Given the description of an element on the screen output the (x, y) to click on. 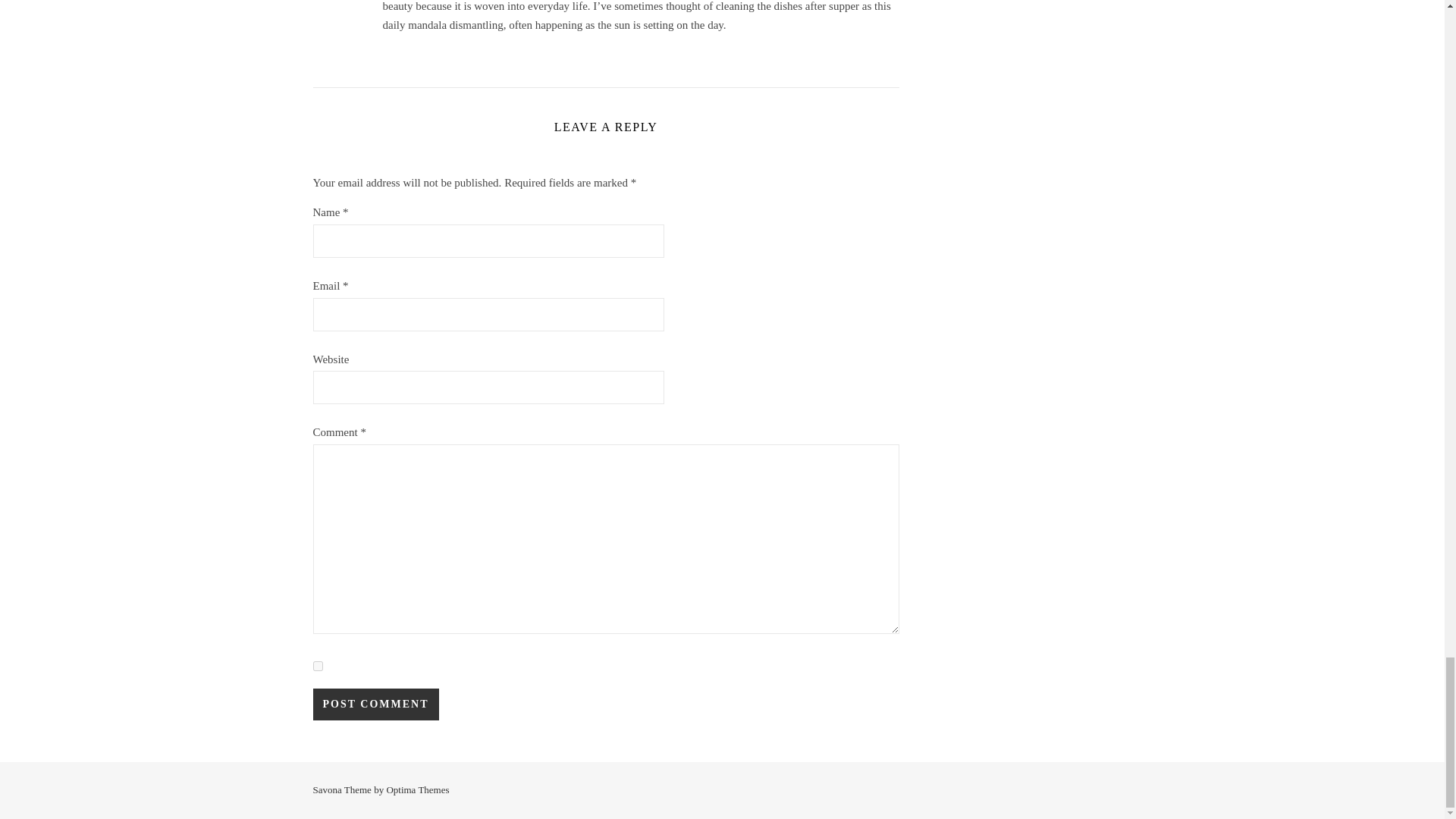
Post Comment (375, 704)
yes (317, 665)
Post Comment (375, 704)
